Given the description of an element on the screen output the (x, y) to click on. 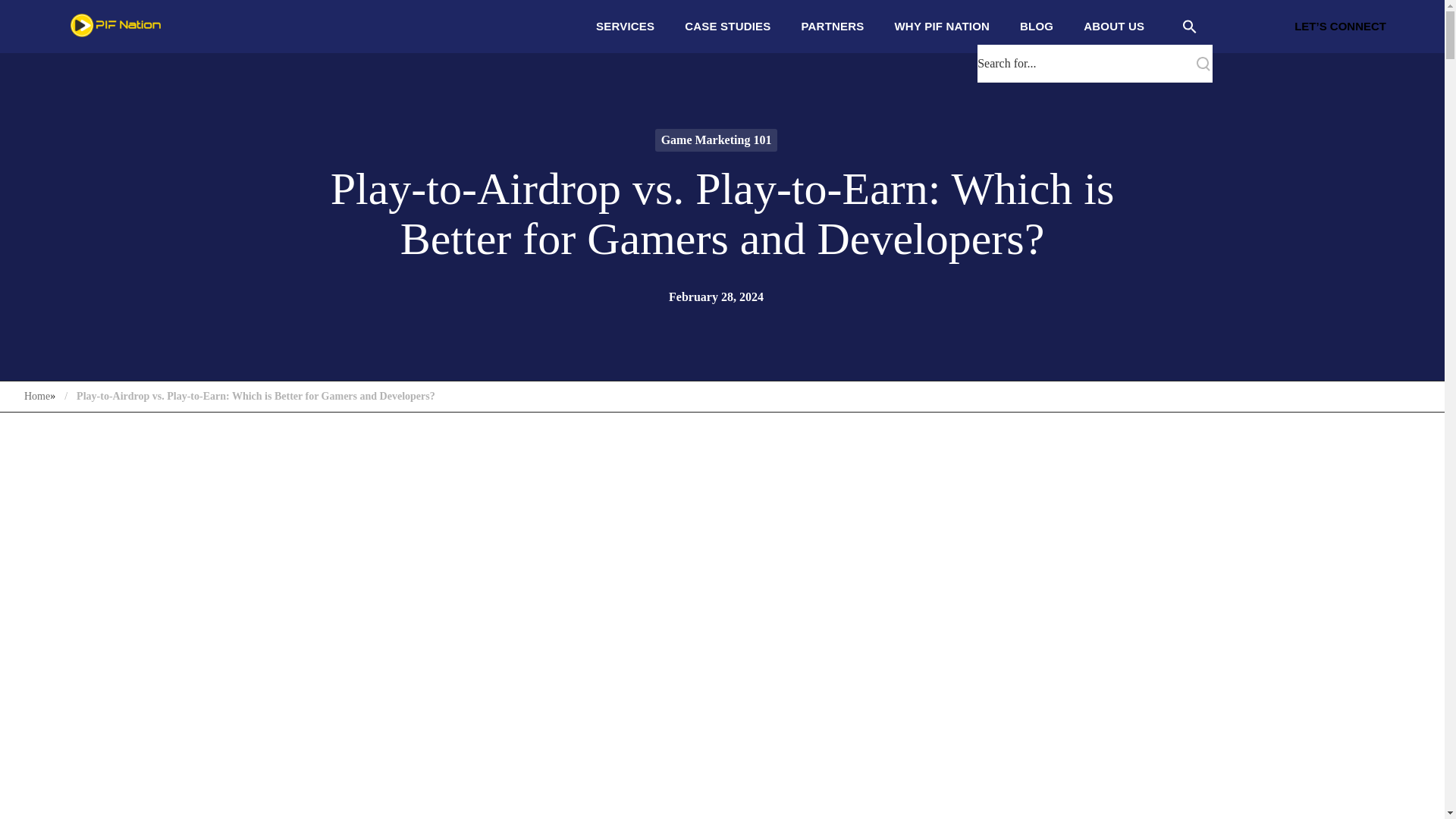
WHY PIF NATION (942, 26)
PARTNERS (832, 26)
ABOUT US (1113, 26)
CASE STUDIES (727, 26)
BLOG (1036, 26)
SERVICES (624, 26)
